Given the description of an element on the screen output the (x, y) to click on. 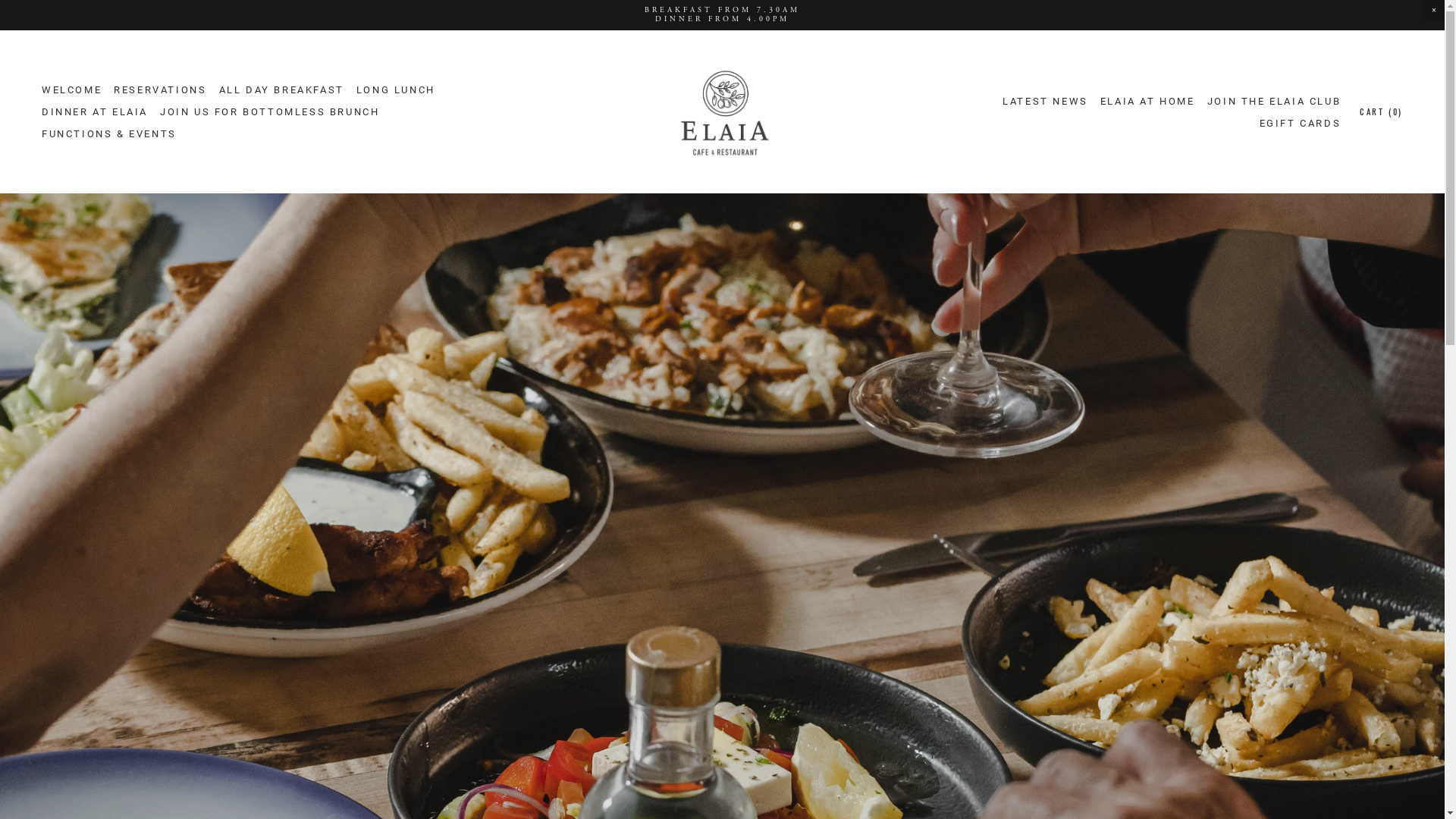
DINNER AT ELAIA Element type: text (94, 111)
JOIN US FOR BOTTOMLESS BRUNCH Element type: text (269, 111)
JOIN THE ELAIA CLUB Element type: text (1273, 101)
CART 0 Element type: text (1381, 111)
ELAIA AT HOME Element type: text (1147, 101)
LATEST NEWS Element type: text (1045, 101)
LONG LUNCH Element type: text (395, 89)
WELCOME Element type: text (71, 89)
RESERVATIONS Element type: text (159, 89)
EGIFT CARDS Element type: text (1300, 123)
FUNCTIONS & EVENTS Element type: text (108, 133)
ALL DAY BREAKFAST Element type: text (281, 89)
